Given the description of an element on the screen output the (x, y) to click on. 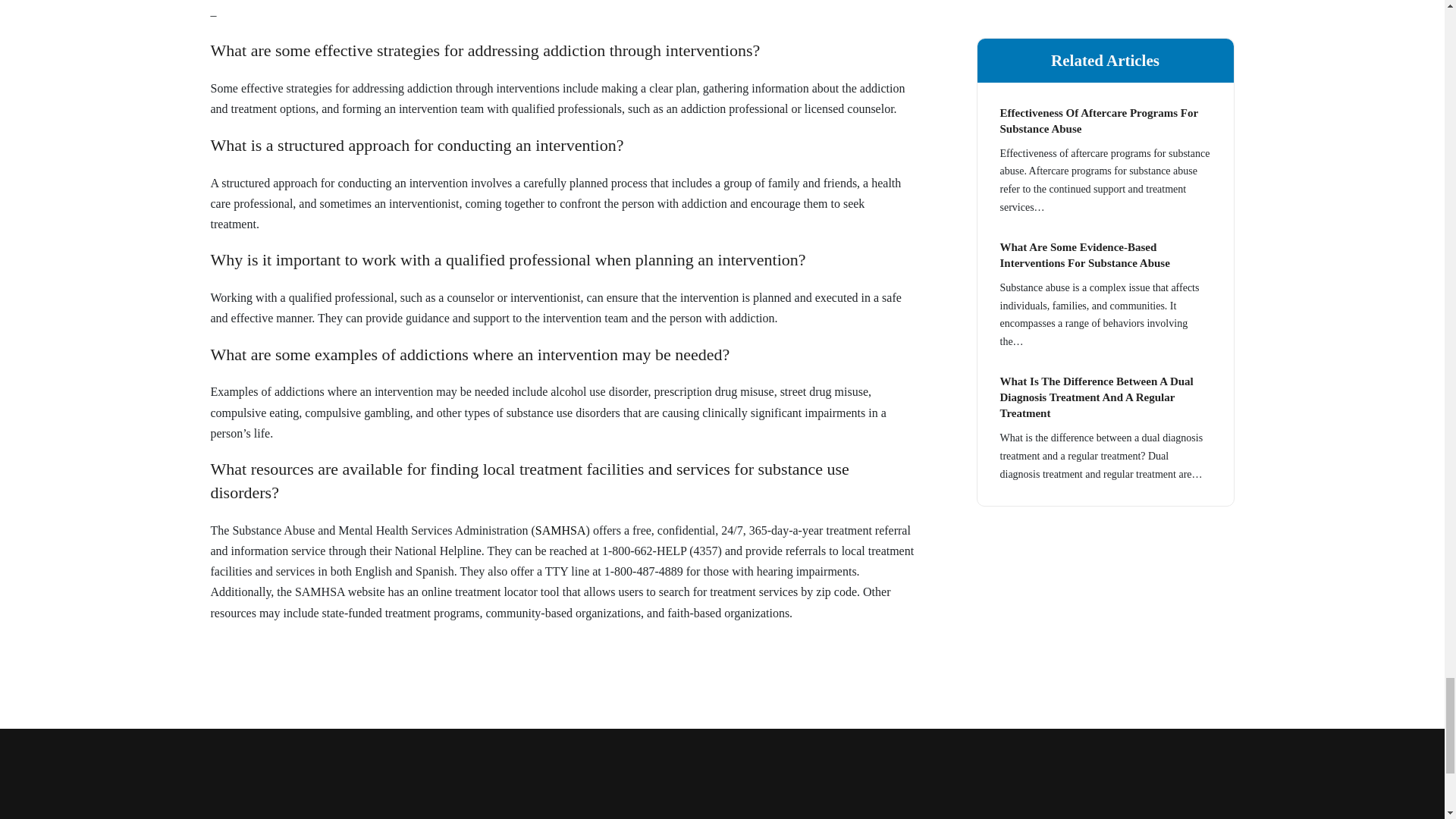
SAMHSA (560, 530)
